Given the description of an element on the screen output the (x, y) to click on. 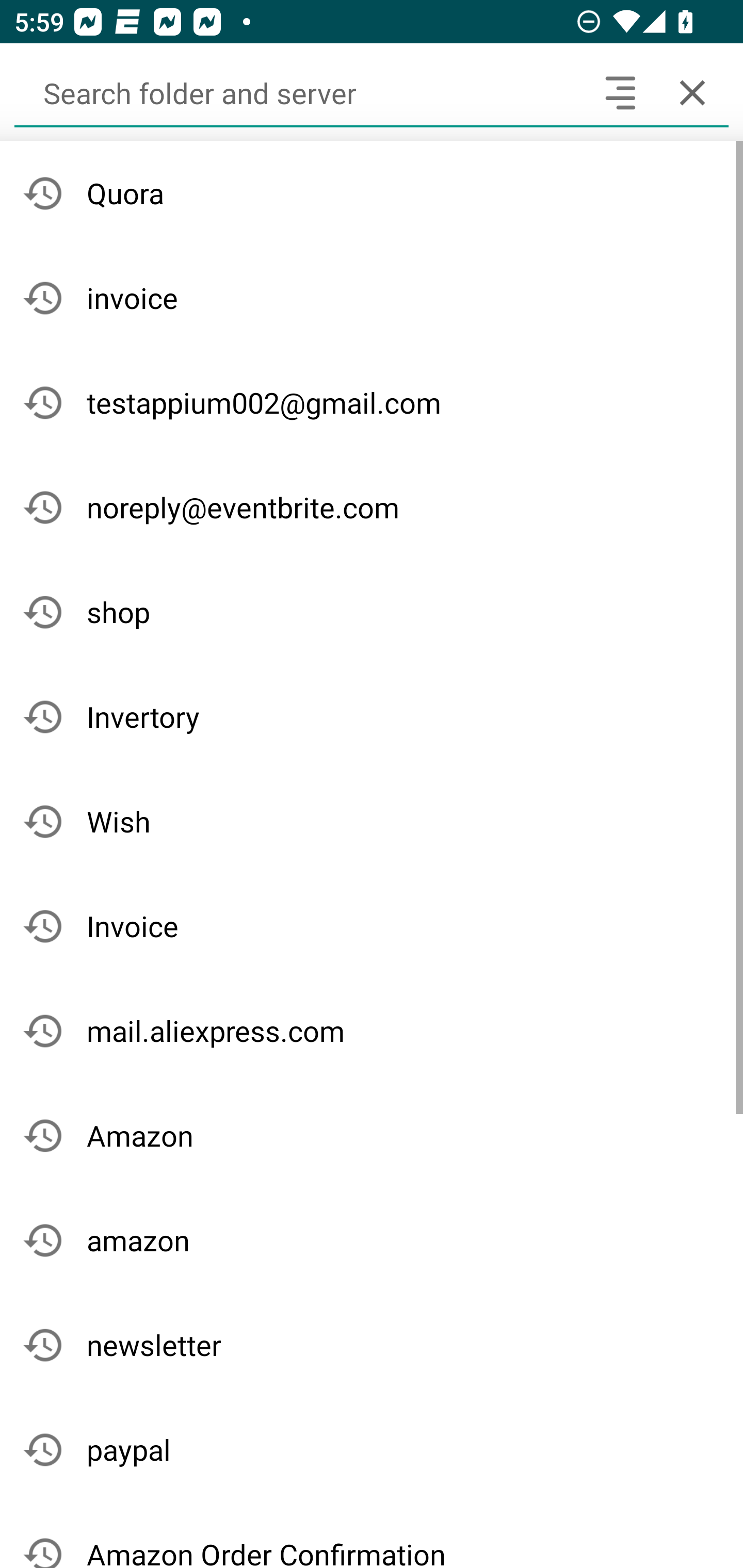
   Search folder and server (298, 92)
Search headers and text (619, 92)
Cancel (692, 92)
